Given the description of an element on the screen output the (x, y) to click on. 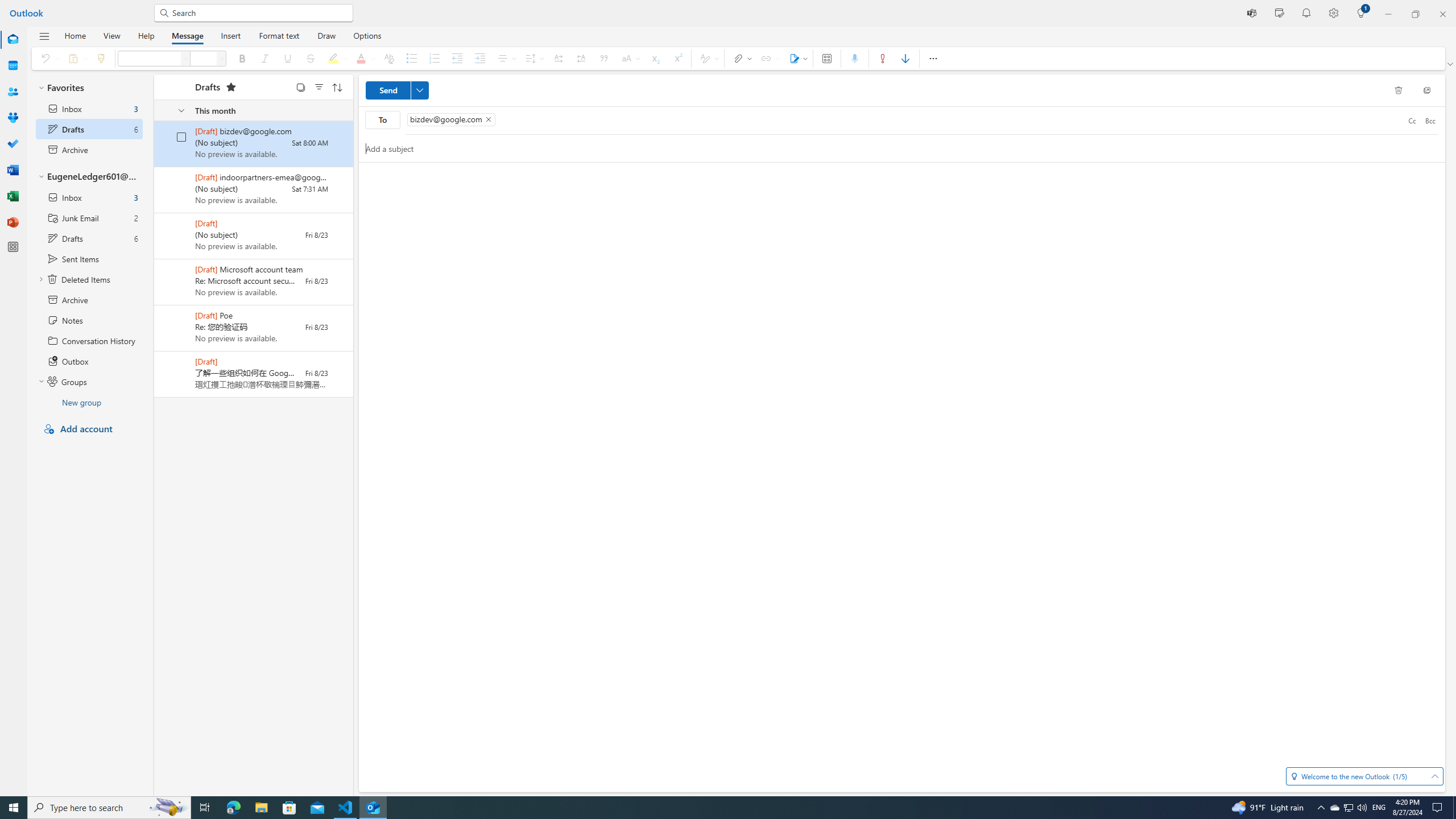
Groups (89, 381)
Sent Items (89, 258)
Increase indent (480, 58)
Font (148, 58)
Subscript (654, 58)
Pop Out (1426, 90)
Options (367, 35)
AutomationID: checkbox-1772 (180, 136)
Format text (279, 35)
Junk Email 2 items (89, 217)
Add a subject (891, 148)
Message (187, 35)
